Given the description of an element on the screen output the (x, y) to click on. 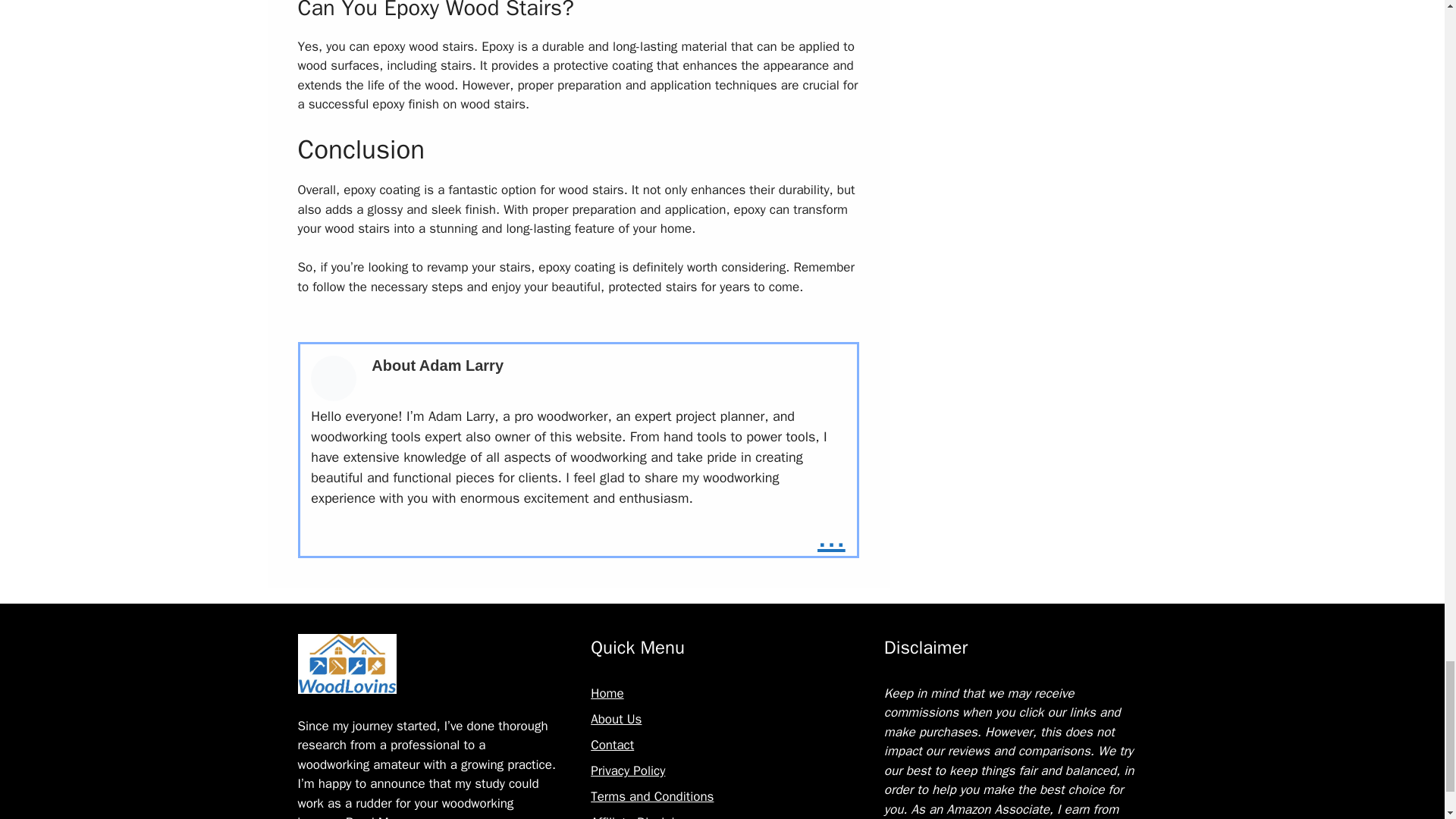
Terms and Conditions (652, 796)
Privacy Policy (628, 770)
Affiliate Disclaimer (643, 816)
Home (607, 693)
... (830, 536)
Read more (830, 536)
Read More (376, 816)
Contact (612, 744)
About Us (616, 719)
